Given the description of an element on the screen output the (x, y) to click on. 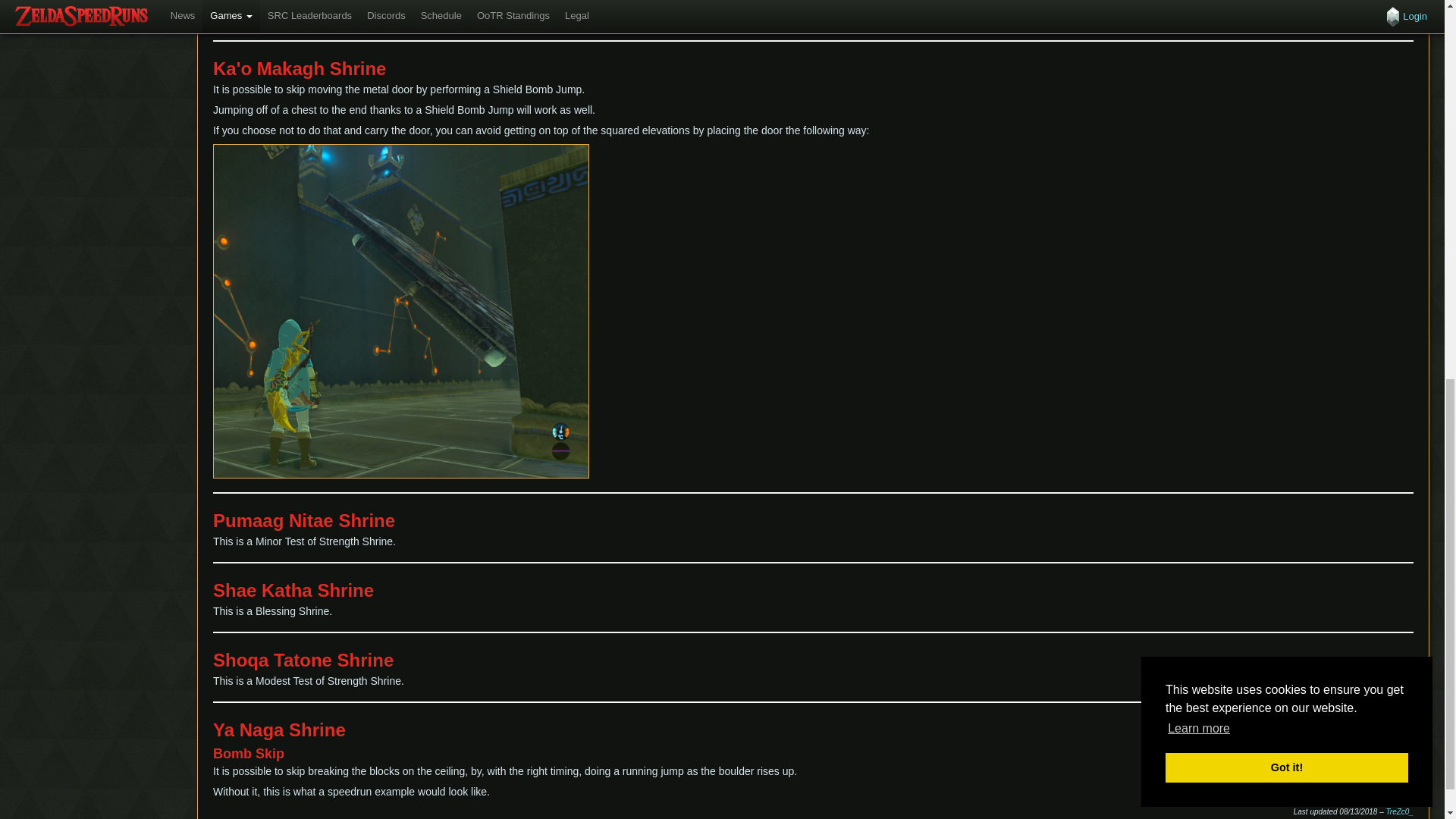
Learn more (1198, 2)
Got it! (1286, 32)
